Given the description of an element on the screen output the (x, y) to click on. 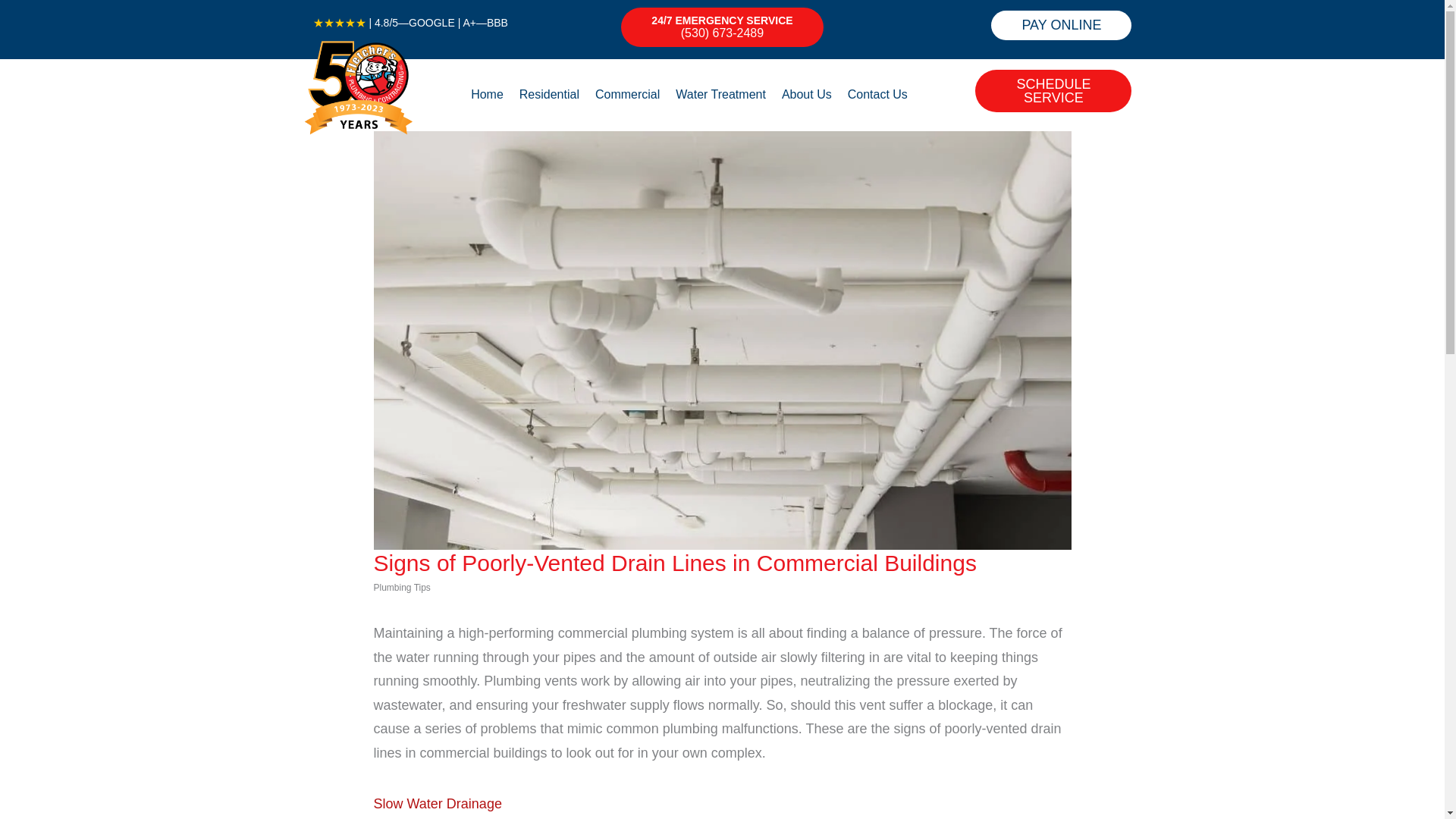
PAY ONLINE (1061, 25)
fpci-50th-logo (357, 87)
Home (487, 94)
Commercial (627, 94)
Residential (549, 94)
